Given the description of an element on the screen output the (x, y) to click on. 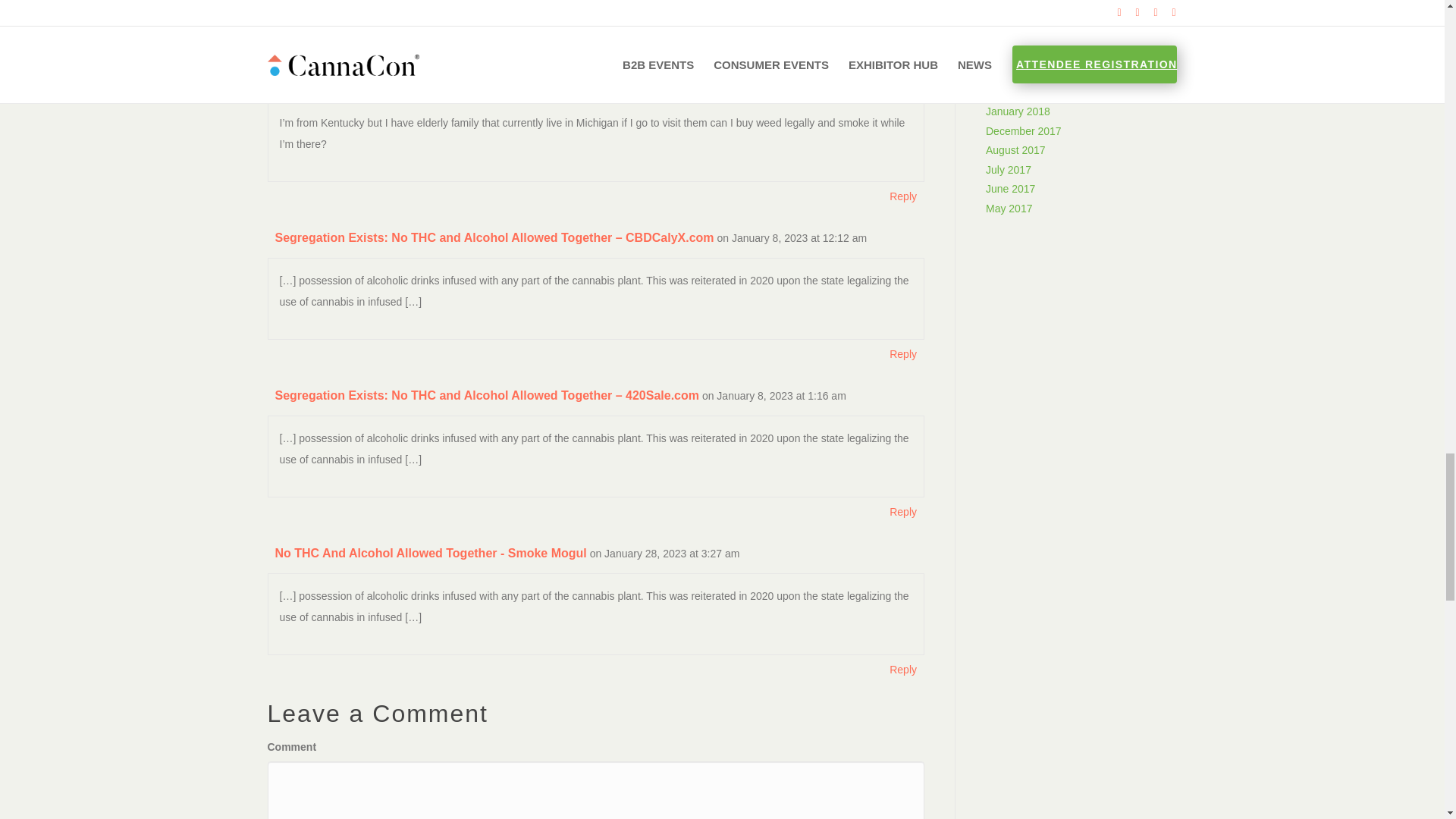
Reply (902, 32)
Reply (902, 669)
Reply (902, 511)
No THC And Alcohol Allowed Together - Smoke Mogul (430, 553)
Reply (902, 196)
Reply (902, 353)
